Given the description of an element on the screen output the (x, y) to click on. 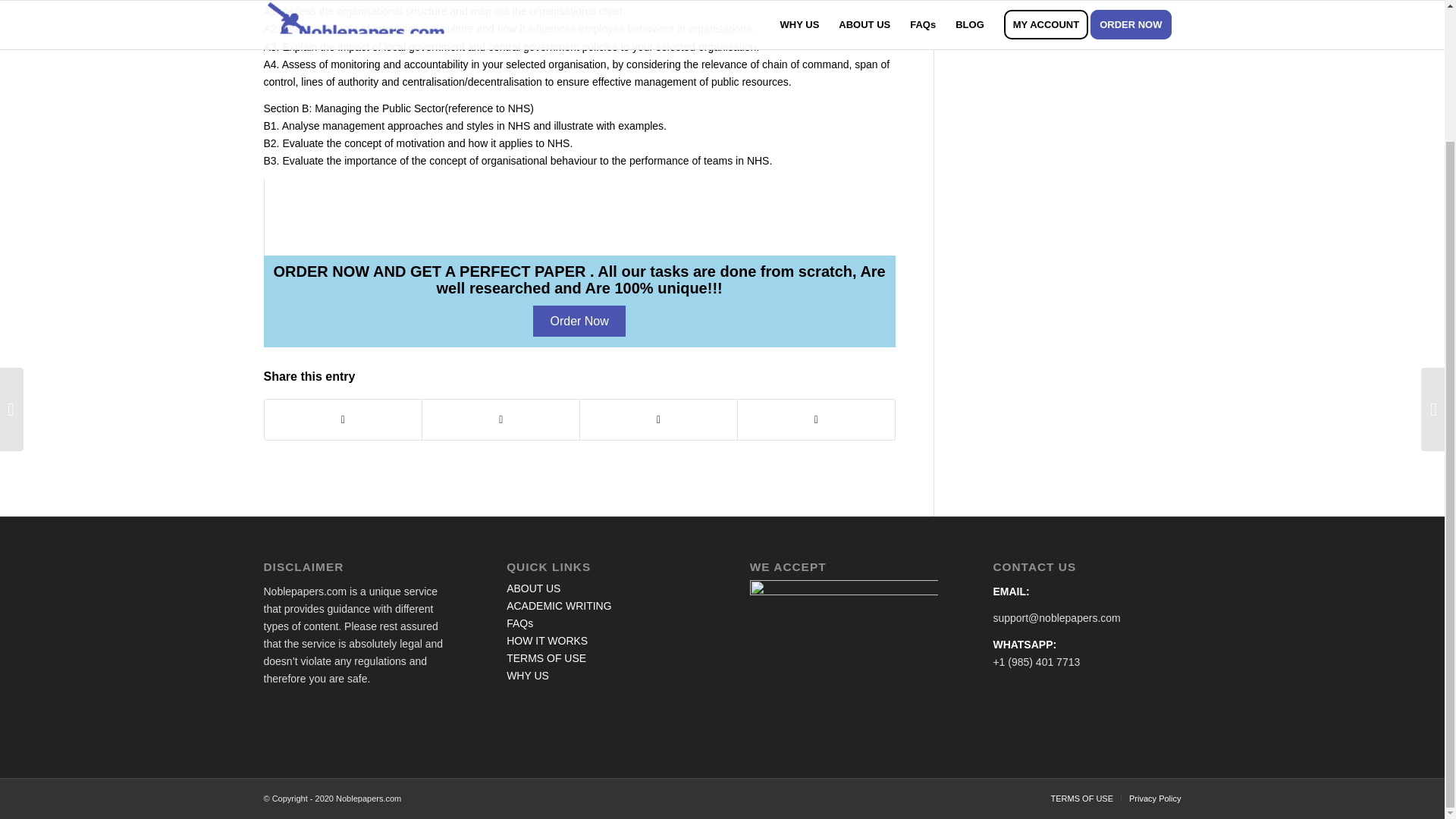
Order Now (578, 320)
HOW IT WORKS (547, 640)
ACADEMIC WRITING (558, 605)
FAQs (519, 623)
ABOUT US (533, 588)
Privacy Policy (1154, 798)
TERMS OF USE (546, 657)
TERMS OF USE (1082, 798)
WHY US (527, 675)
